Given the description of an element on the screen output the (x, y) to click on. 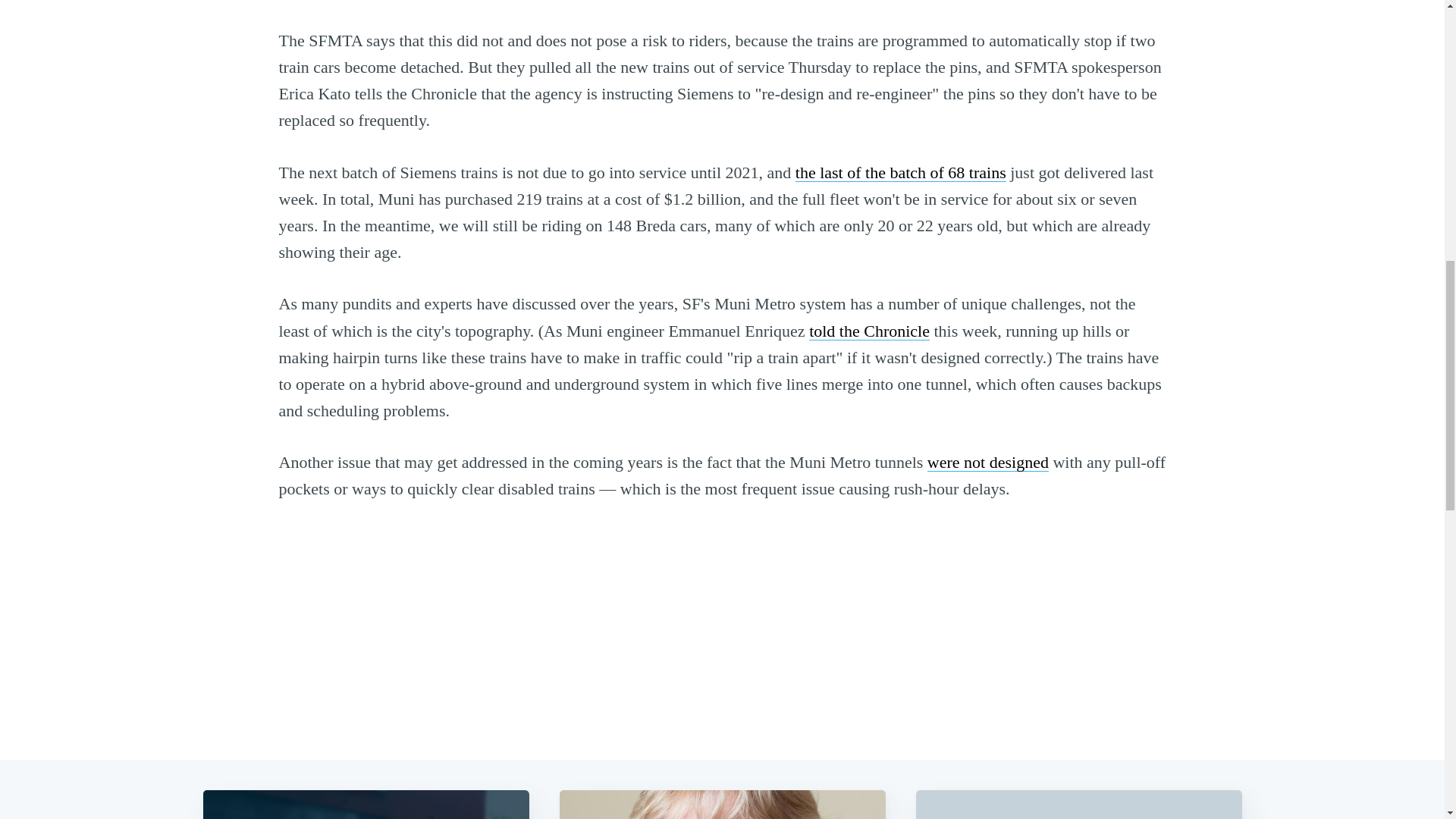
the last of the batch of 68 trains (900, 171)
were not designed (987, 461)
told the Chronicle (869, 330)
